Given the description of an element on the screen output the (x, y) to click on. 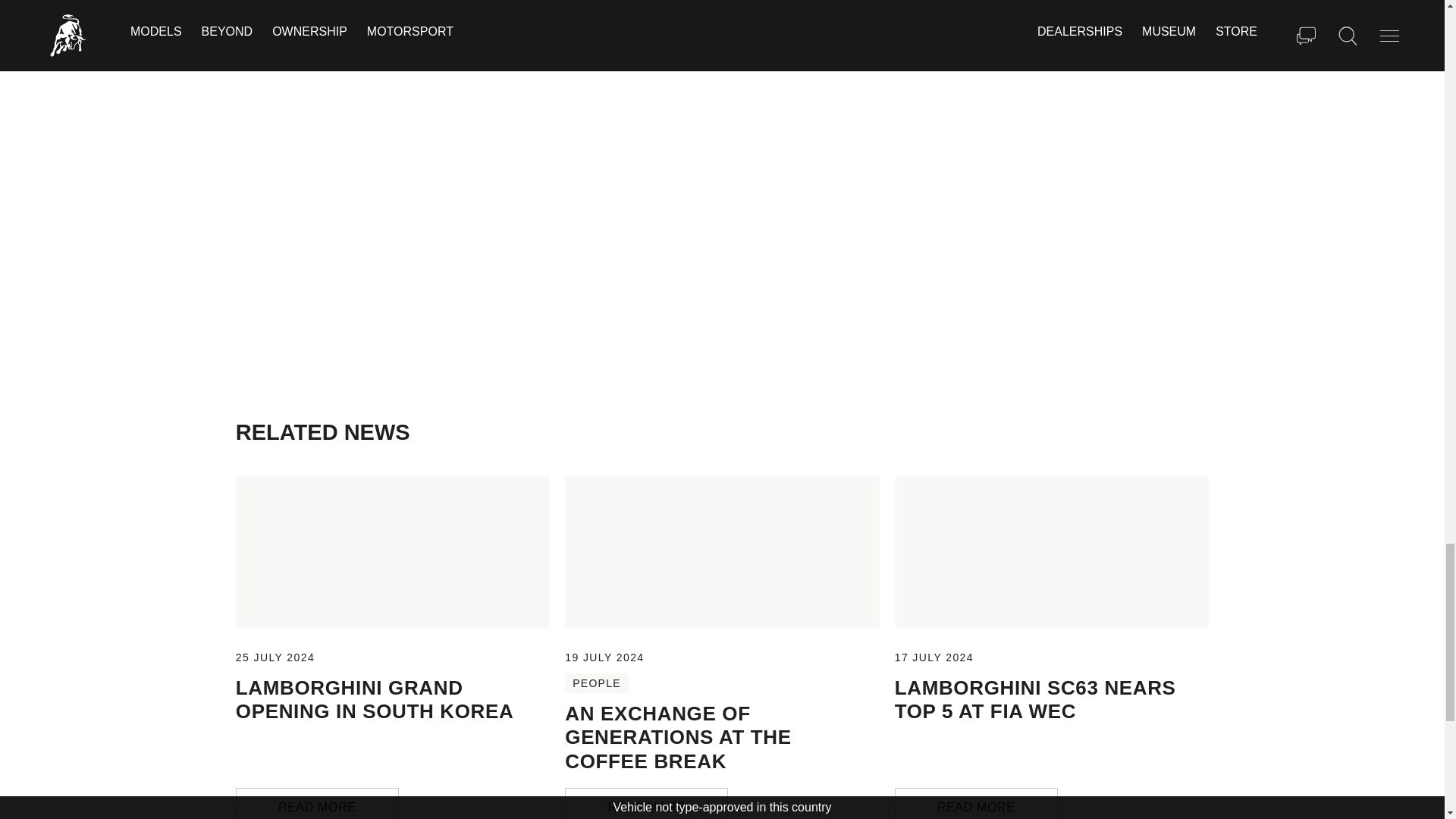
People (596, 682)
